Given the description of an element on the screen output the (x, y) to click on. 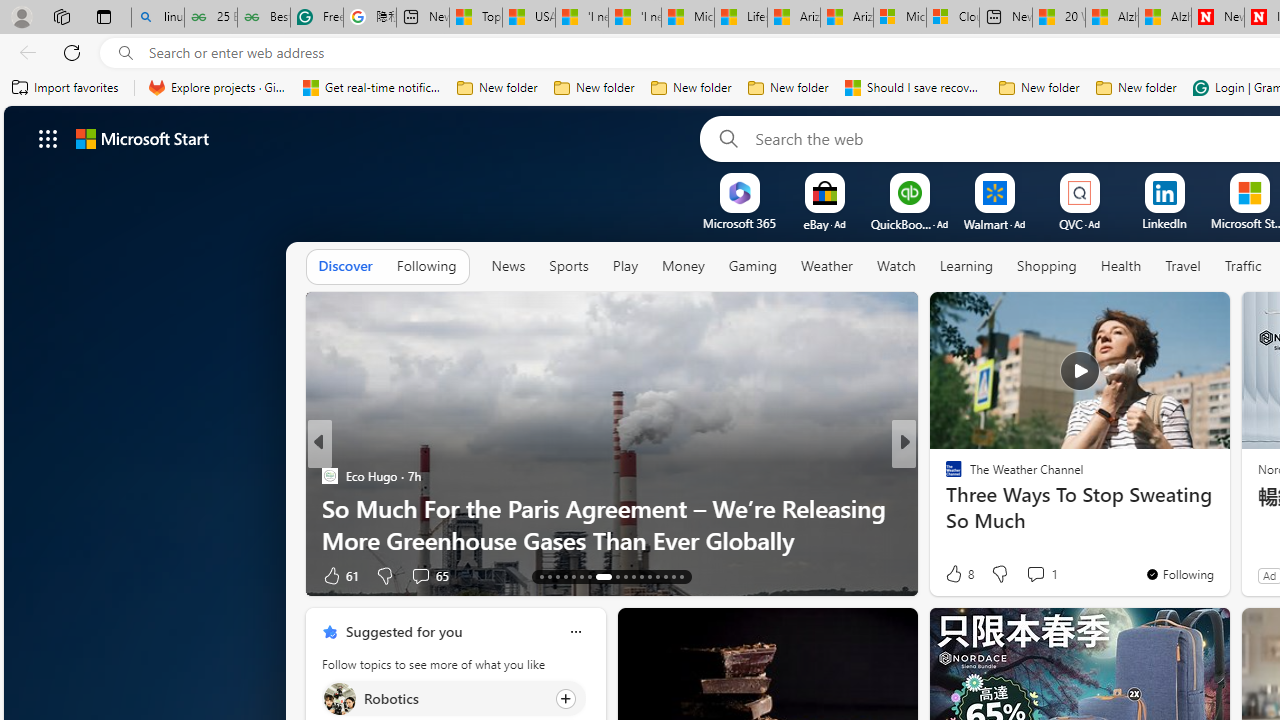
244 Like (959, 574)
View comments 12 Comment (1042, 575)
The Independent (944, 475)
86 Like (956, 574)
AutomationID: tab-24 (641, 576)
Body Network (944, 507)
147 Like (959, 574)
